Given the description of an element on the screen output the (x, y) to click on. 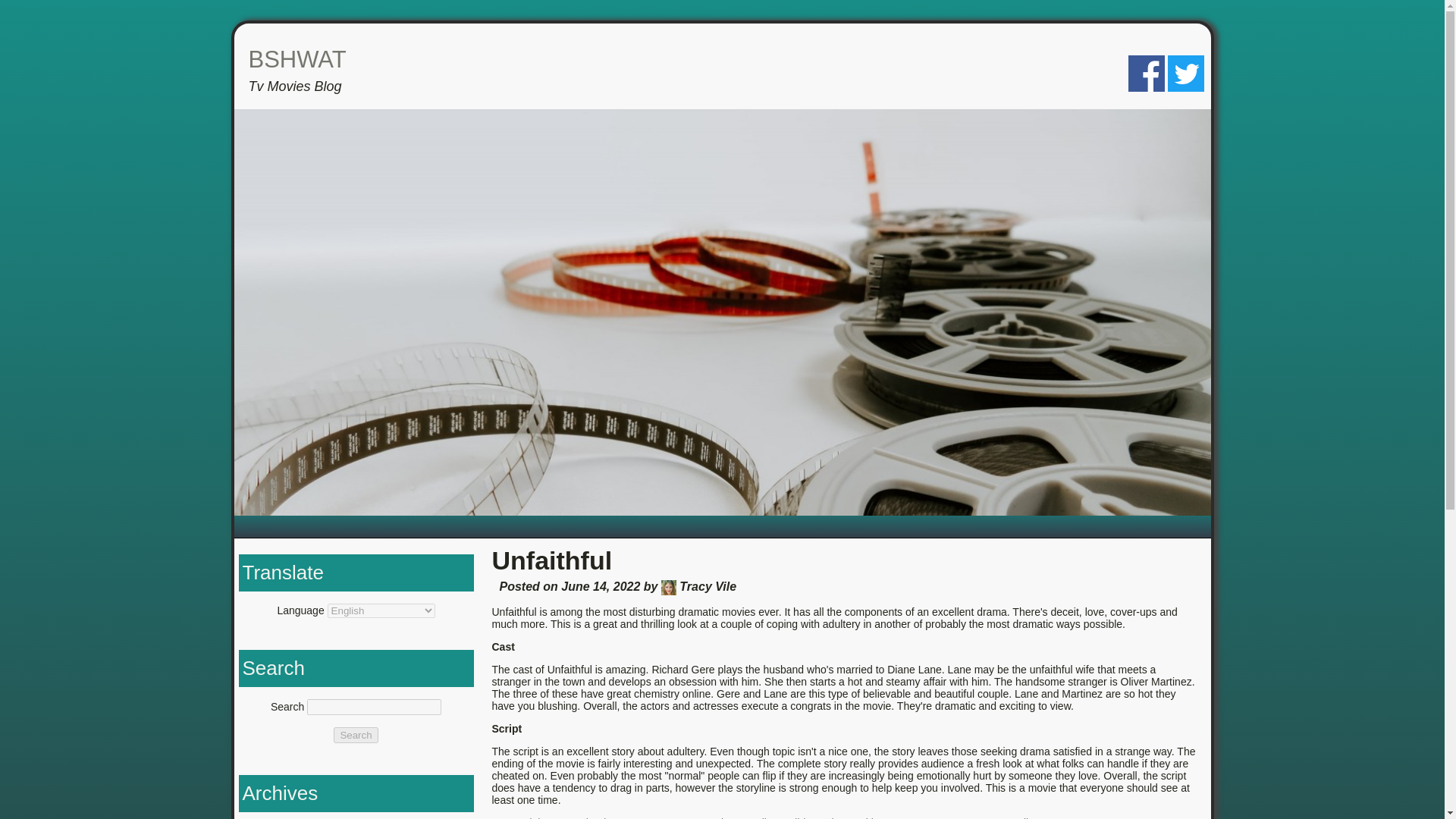
couple (578, 817)
script (829, 817)
overall (751, 817)
movie (715, 817)
drama (614, 817)
BSHWAT (297, 58)
starts (953, 817)
possible (791, 817)
someone (912, 817)
great (648, 817)
Tracy Vile (669, 587)
seeking (866, 817)
Search (355, 734)
meets (680, 817)
adultery (538, 817)
